Given the description of an element on the screen output the (x, y) to click on. 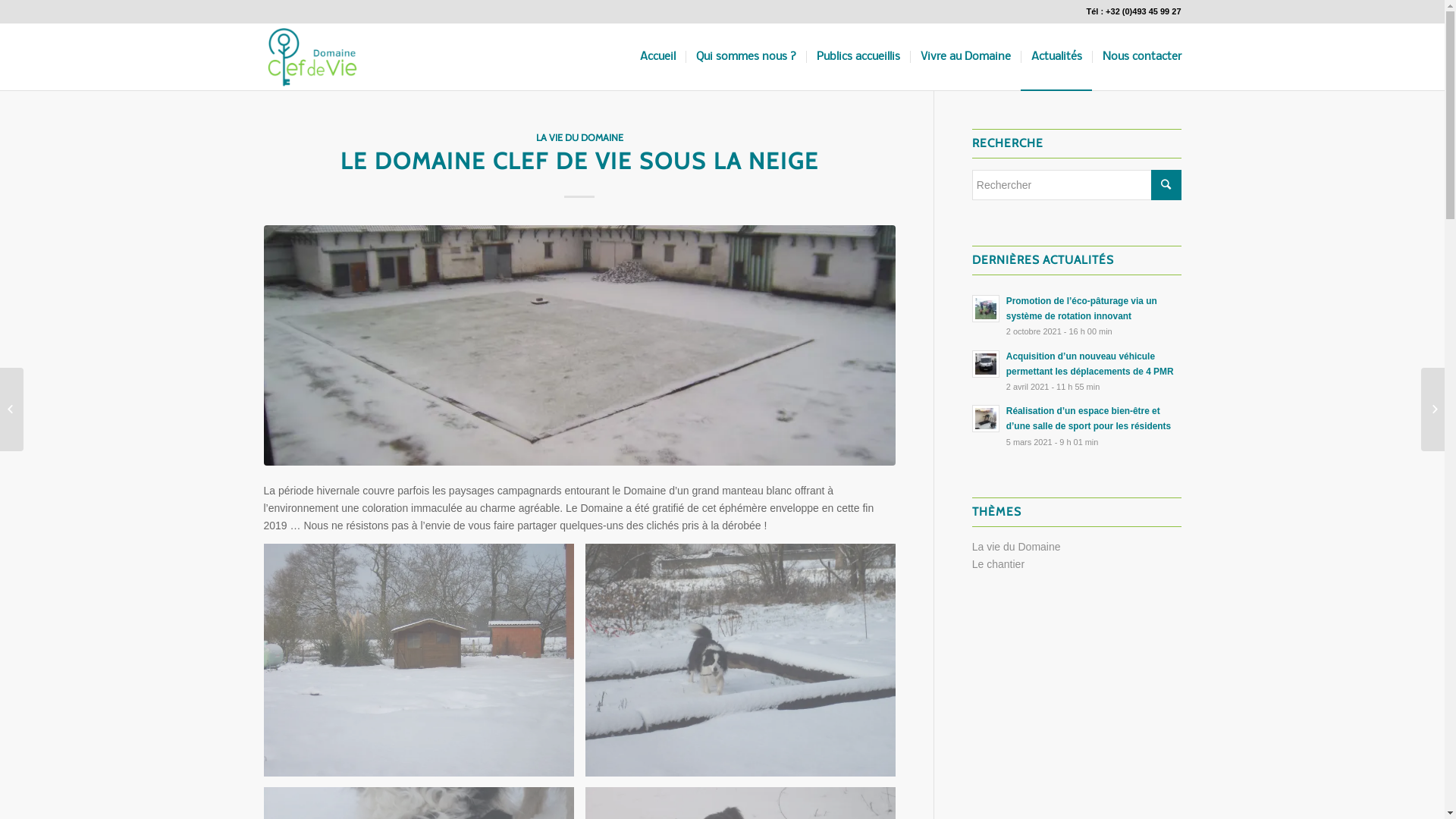
LA VIE DU DOMAINE Element type: text (579, 137)
Accueil Element type: text (656, 56)
Publics accueillis Element type: text (857, 56)
LE DOMAINE CLEF DE VIE SOUS LA NEIGE Element type: text (579, 161)
100_6989 Element type: hover (418, 659)
La vie du Domaine Element type: text (1016, 546)
+32 (0)493 45 99 27 Element type: text (1142, 10)
Vivre au Domaine Element type: text (965, 56)
Le Domaine Clef de Vie sous la neige Element type: hover (579, 345)
Nous contacter Element type: text (1136, 56)
Qui sommes nous ? Element type: text (745, 56)
Le chantier Element type: text (998, 564)
100_6988 Element type: hover (740, 659)
